Given the description of an element on the screen output the (x, y) to click on. 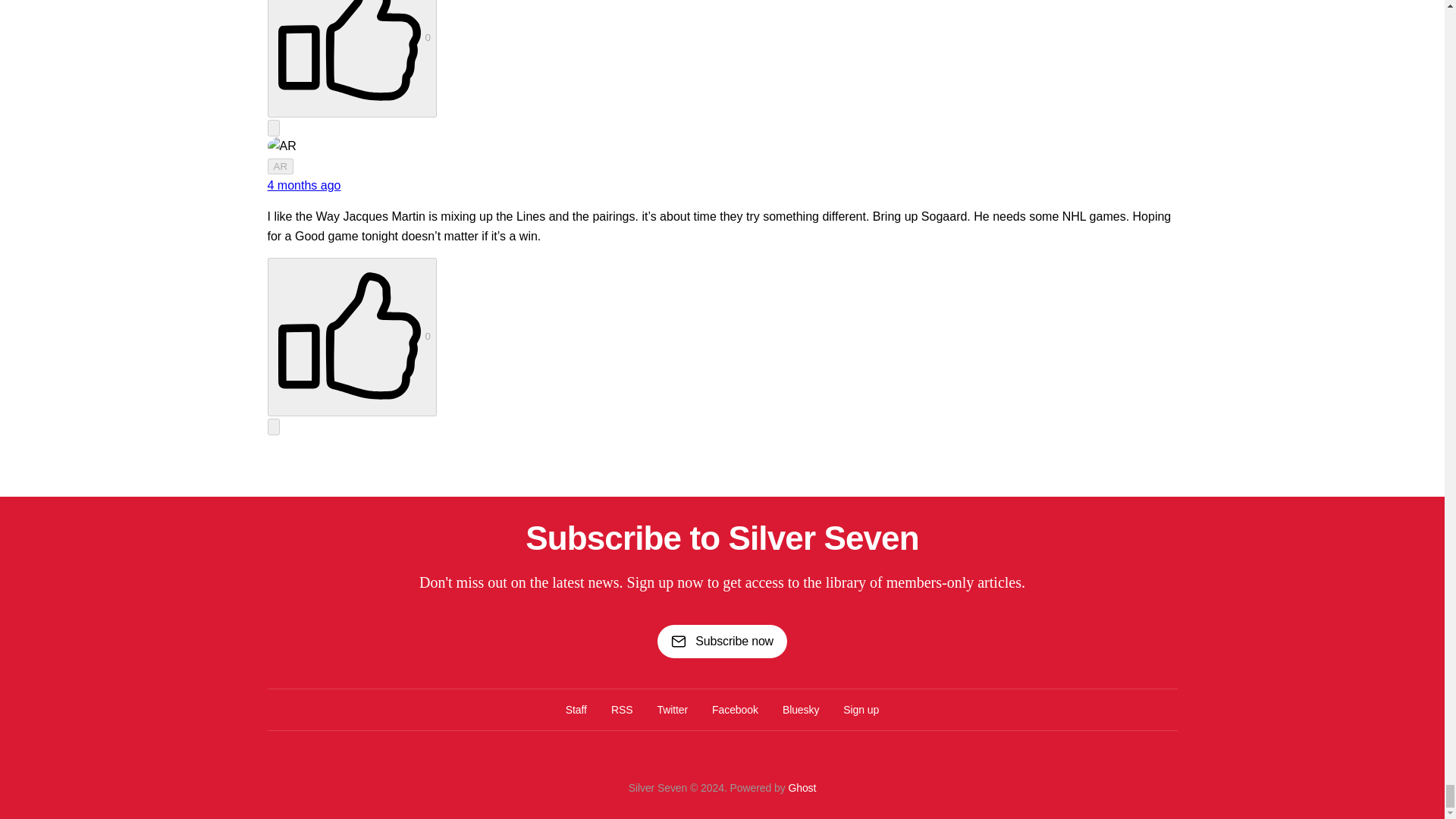
Staff (576, 709)
RSS (622, 709)
Subscribe now (722, 640)
Twitter (671, 709)
